Given the description of an element on the screen output the (x, y) to click on. 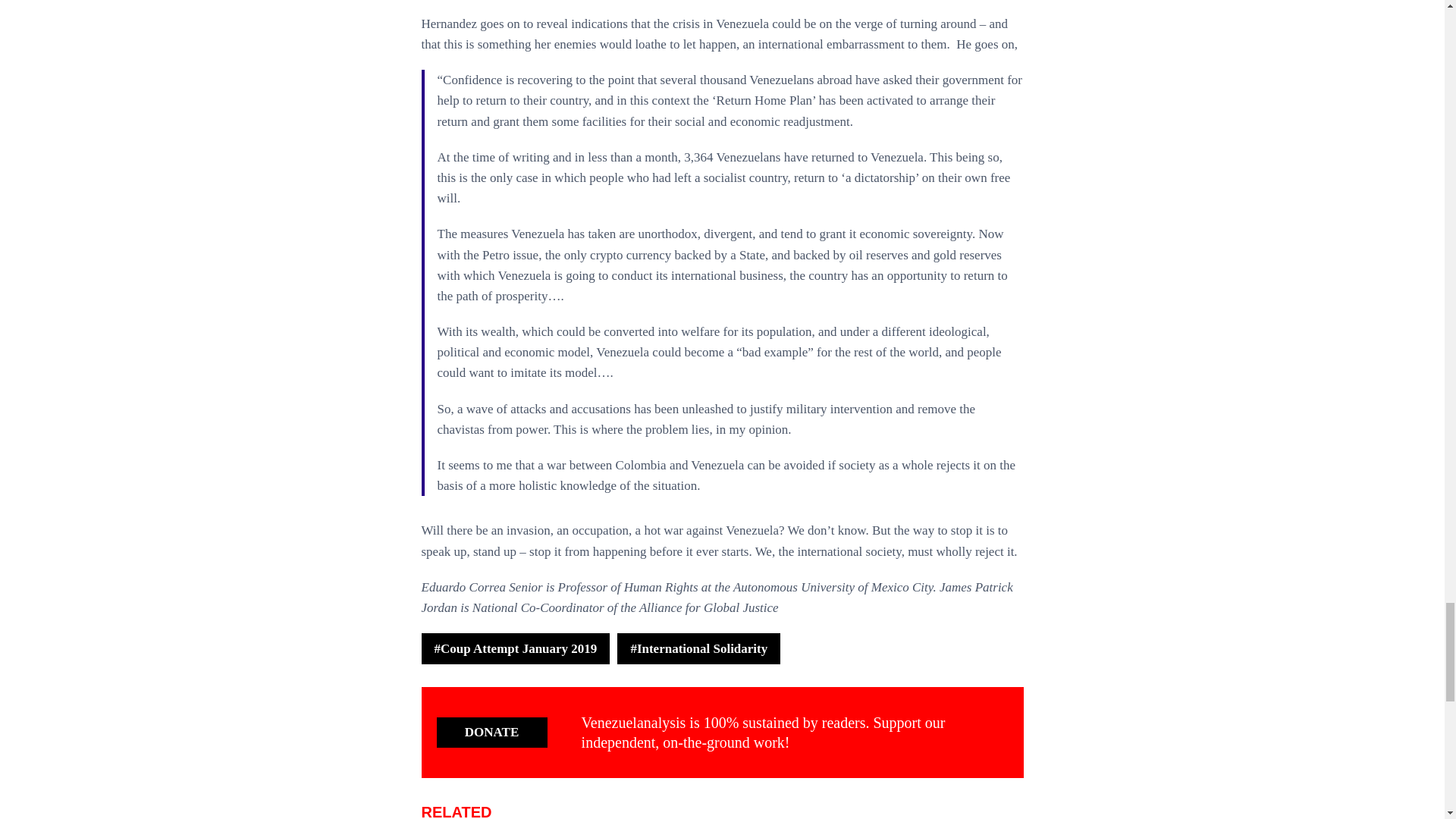
Coup Attempt January 2019 (516, 648)
International Solidarity (698, 648)
DONATE (491, 732)
